Given the description of an element on the screen output the (x, y) to click on. 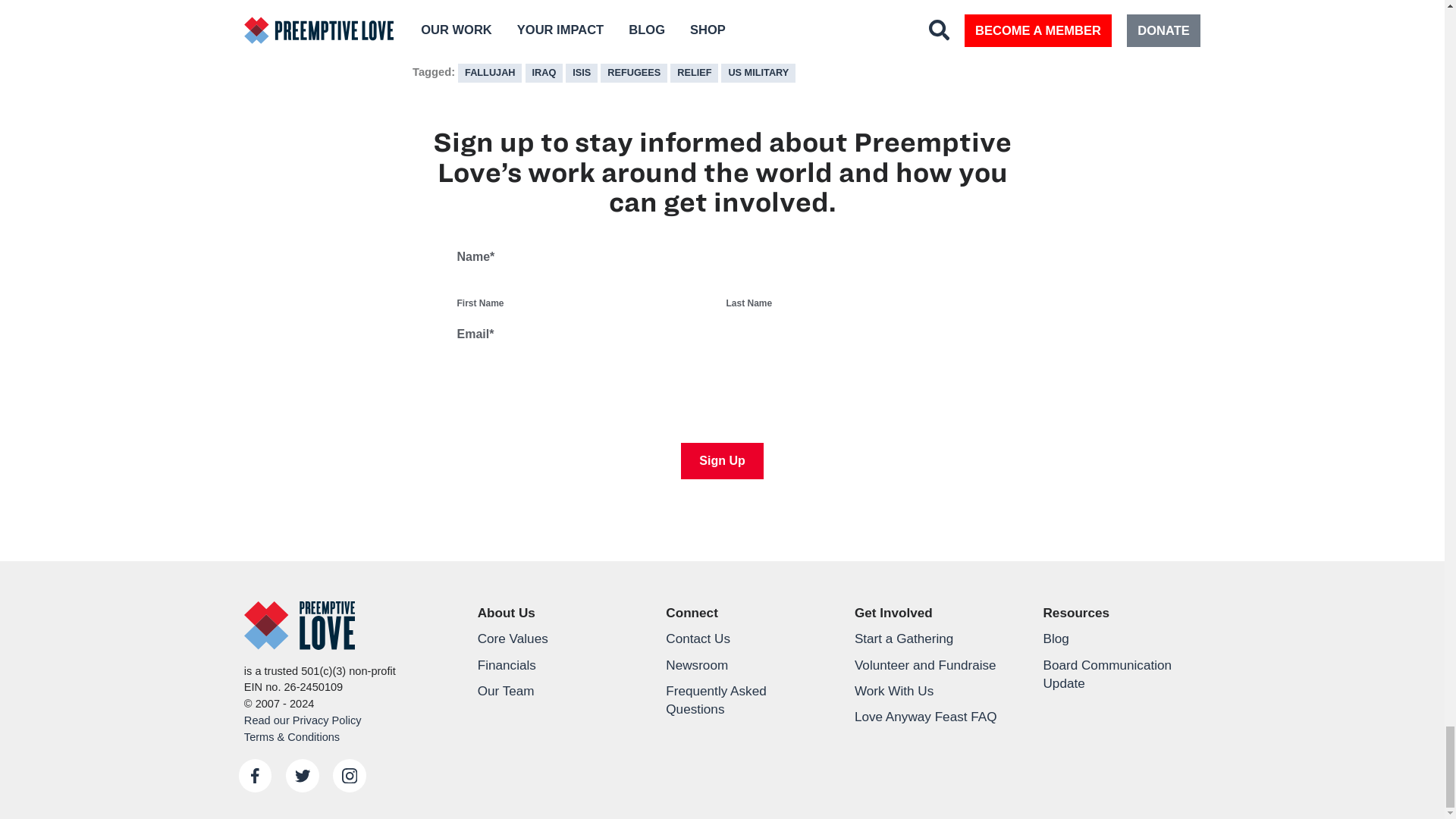
Our Team (555, 690)
Connect (744, 612)
Sign Up (721, 461)
Read our Privacy Policy (302, 720)
US MILITARY (757, 72)
Contact Us (744, 638)
twitter (301, 775)
RELIEF (693, 72)
DONATE NOW (721, 22)
instagram (349, 775)
